Given the description of an element on the screen output the (x, y) to click on. 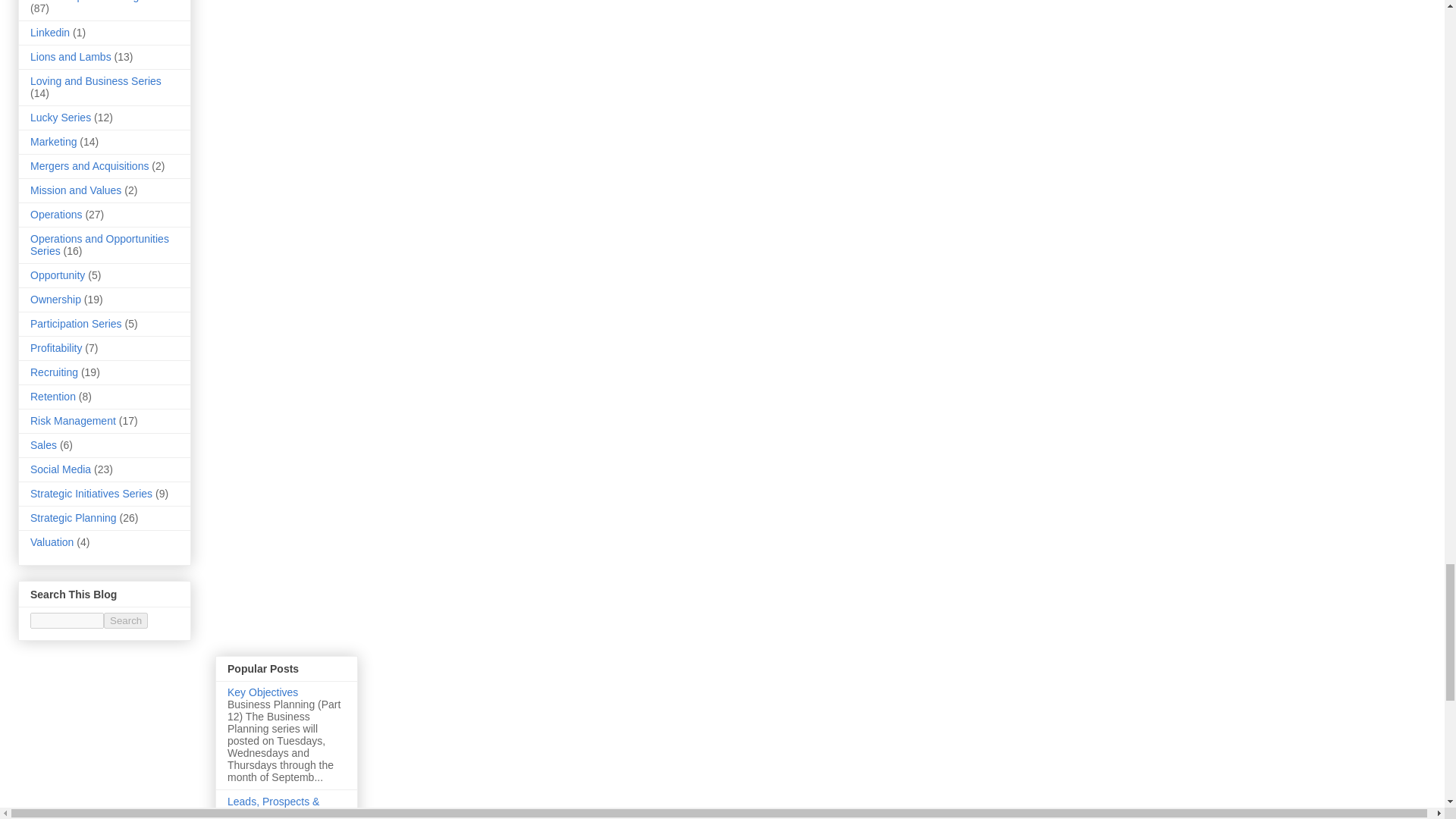
Search (125, 620)
Search (125, 620)
